Given the description of an element on the screen output the (x, y) to click on. 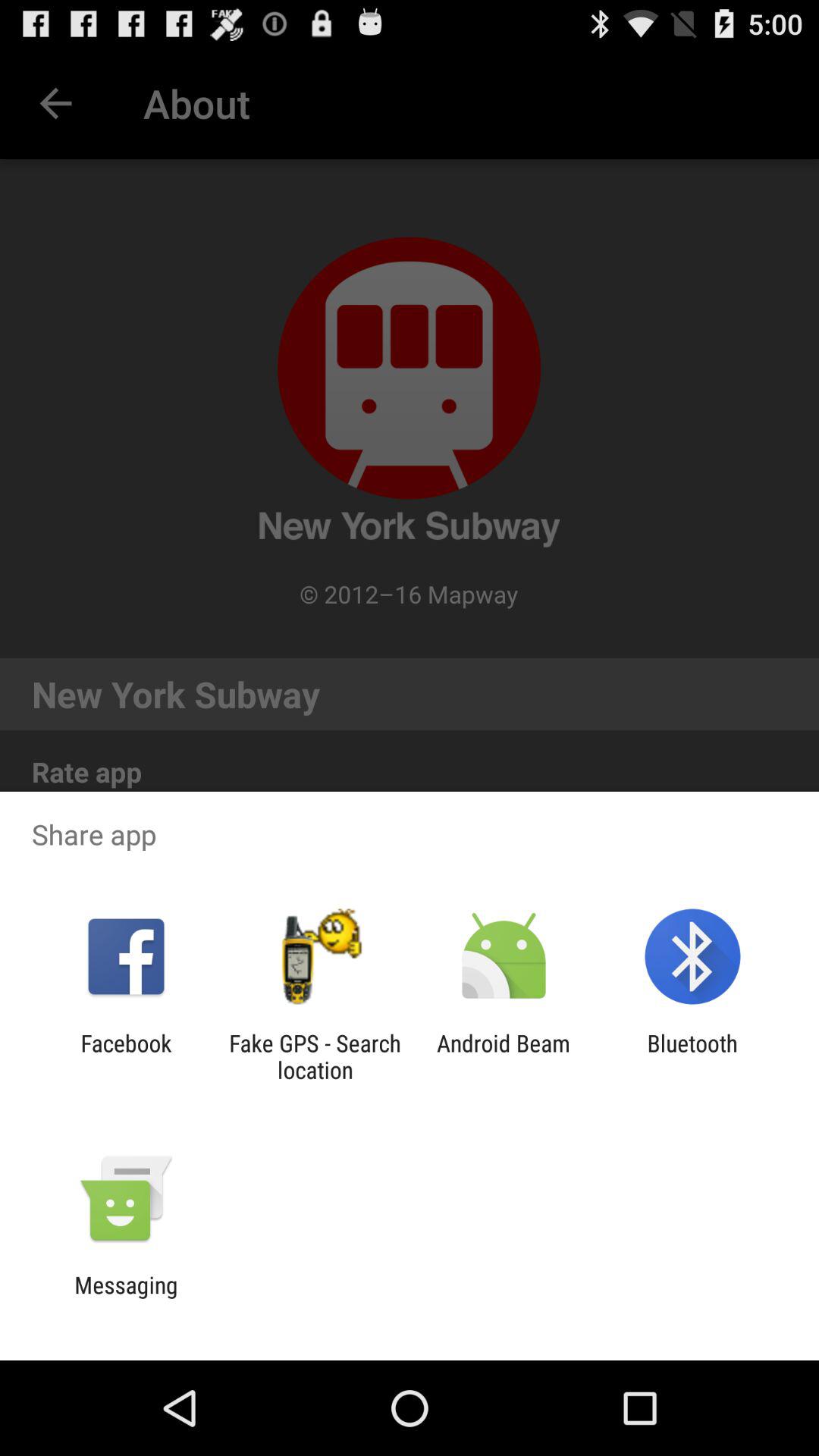
open icon next to facebook app (314, 1056)
